Given the description of an element on the screen output the (x, y) to click on. 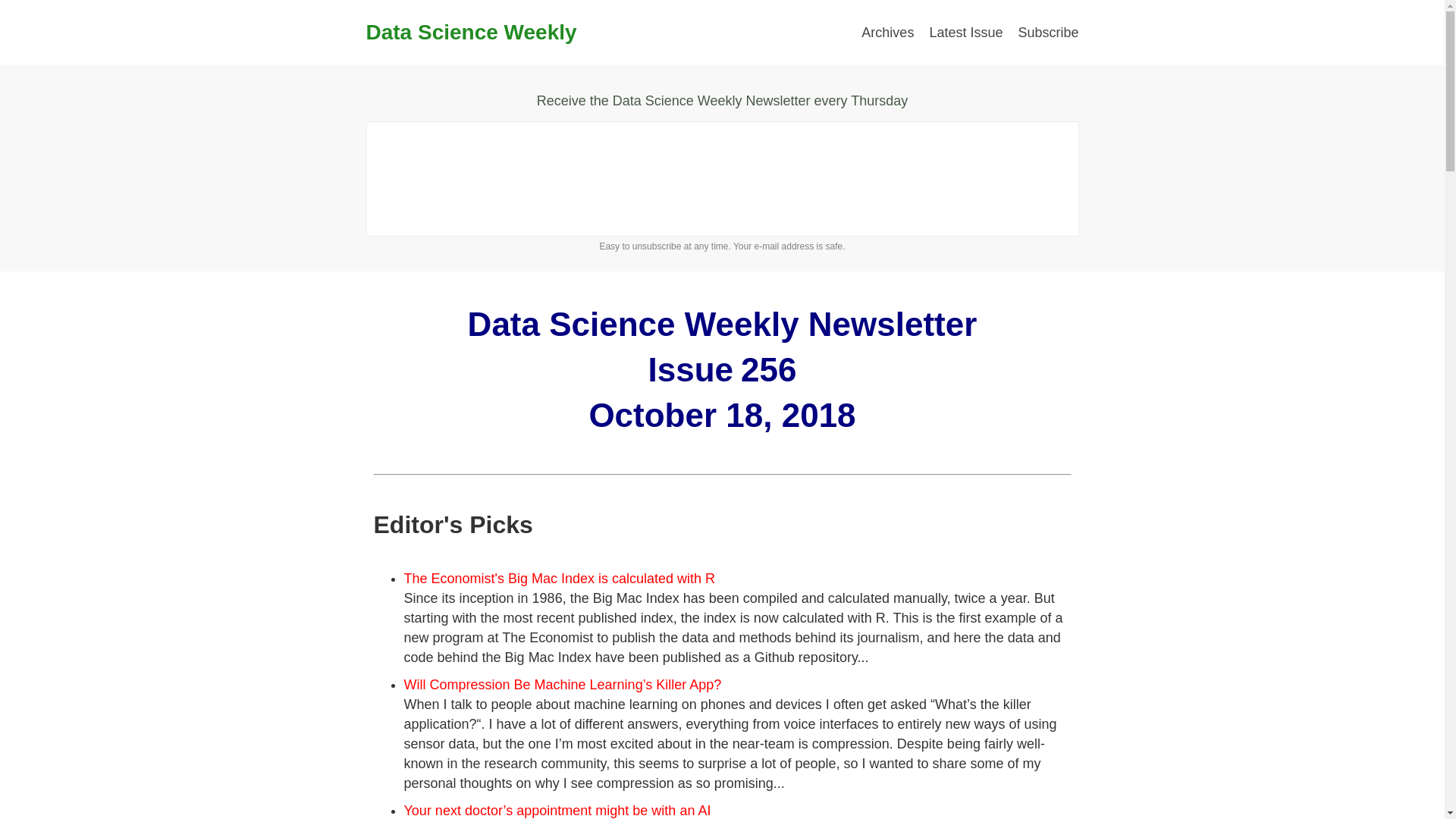
The Economist's Big Mac Index is calculated with R (558, 578)
Archives (887, 32)
Latest Issue (965, 32)
Subscribe (1047, 32)
Data Science Weekly (470, 32)
